Given the description of an element on the screen output the (x, y) to click on. 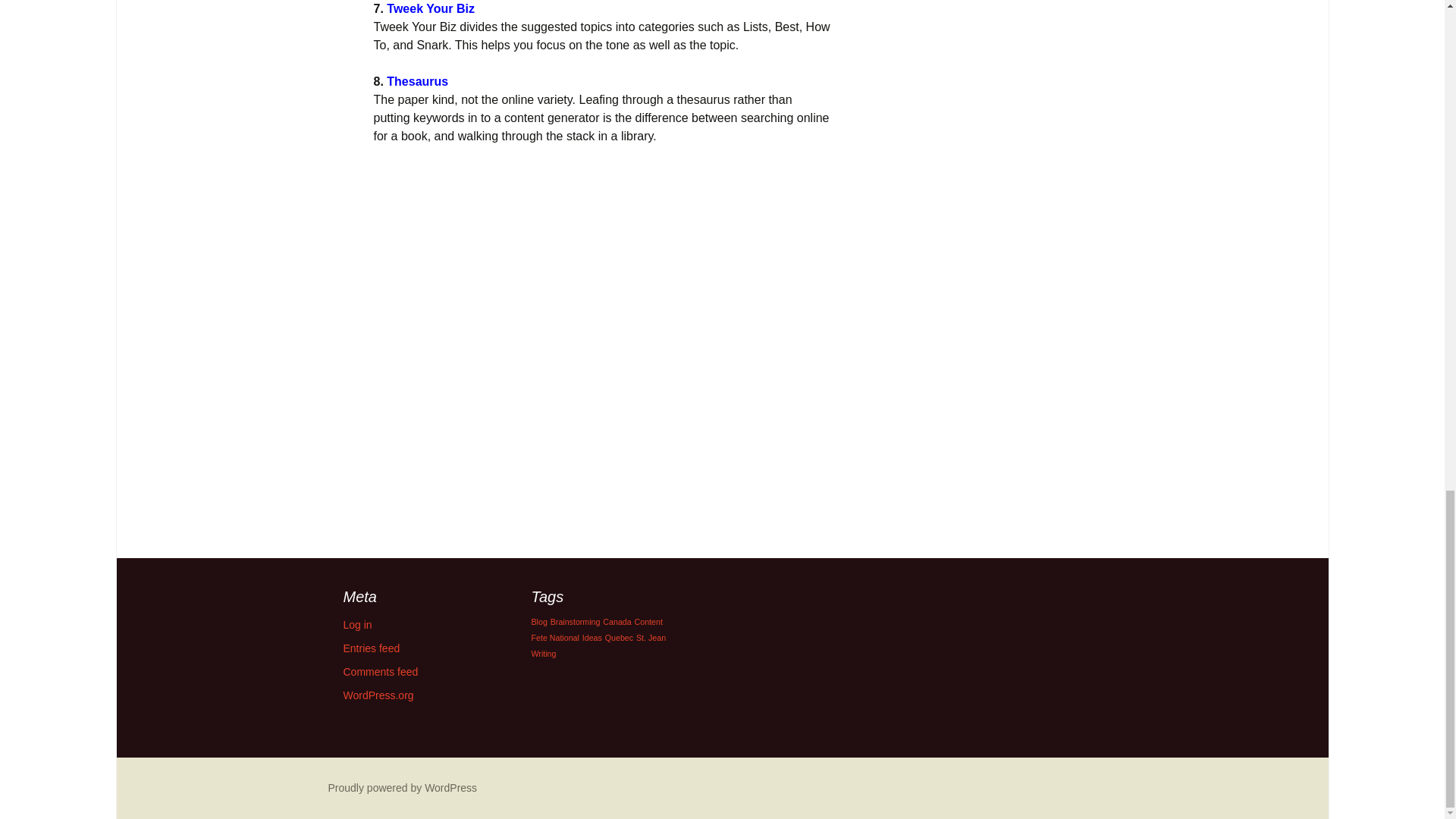
Content (648, 621)
WordPress.org (377, 695)
Brainstorming (574, 621)
Canada (616, 621)
Log in (356, 624)
Blog (539, 621)
week Your Biz (433, 8)
Entries feed (370, 648)
Comments feed (379, 671)
